Given the description of an element on the screen output the (x, y) to click on. 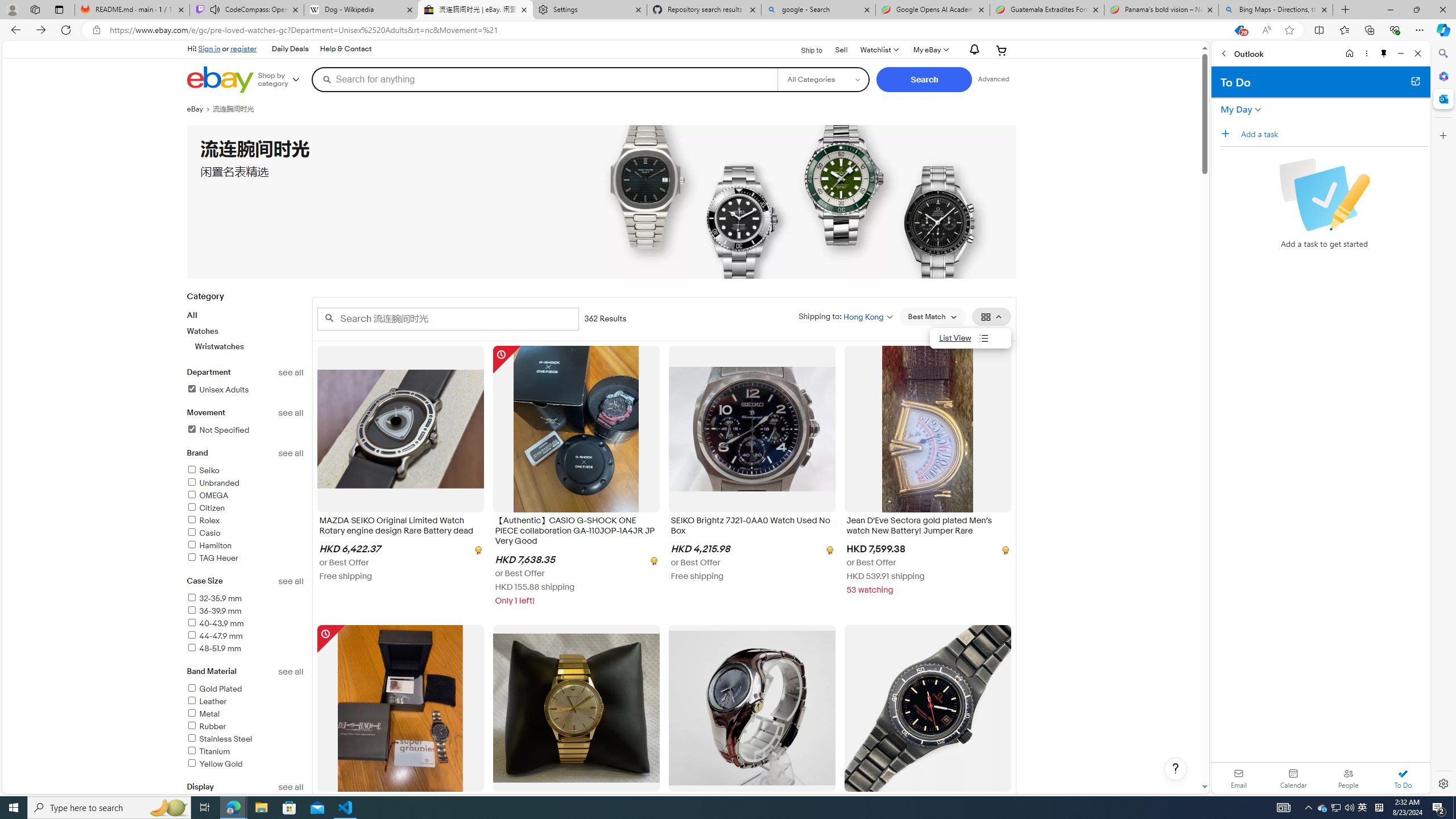
My eBayExpand My eBay (930, 49)
Help & Contact (345, 49)
Gold Plated (245, 689)
Sell (841, 49)
OMEGA (207, 495)
Daily Deals (290, 49)
OMEGA (245, 495)
View: Gallery View (991, 316)
